Given the description of an element on the screen output the (x, y) to click on. 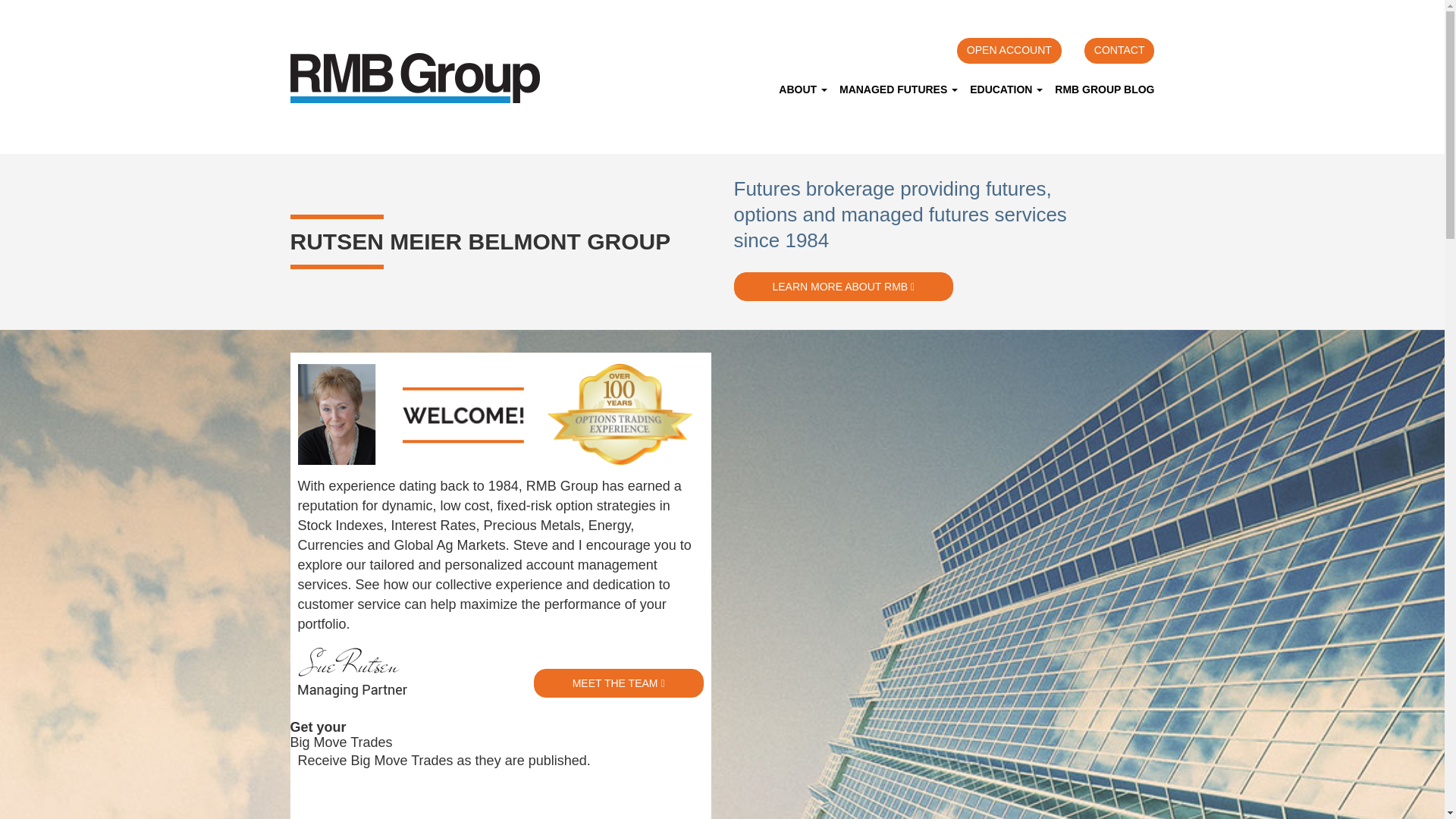
MANAGED FUTURES (897, 89)
ABOUT (802, 89)
RMB Group Blog (1101, 89)
SET UP YOUR FREE ACCESS (402, 798)
CONTACT (1119, 50)
LEARN MORE ABOUT RMB (843, 286)
MEET THE TEAM (618, 683)
Education (1005, 89)
RMB GROUP BLOG (1101, 89)
OPEN ACCOUNT (1008, 50)
